Given the description of an element on the screen output the (x, y) to click on. 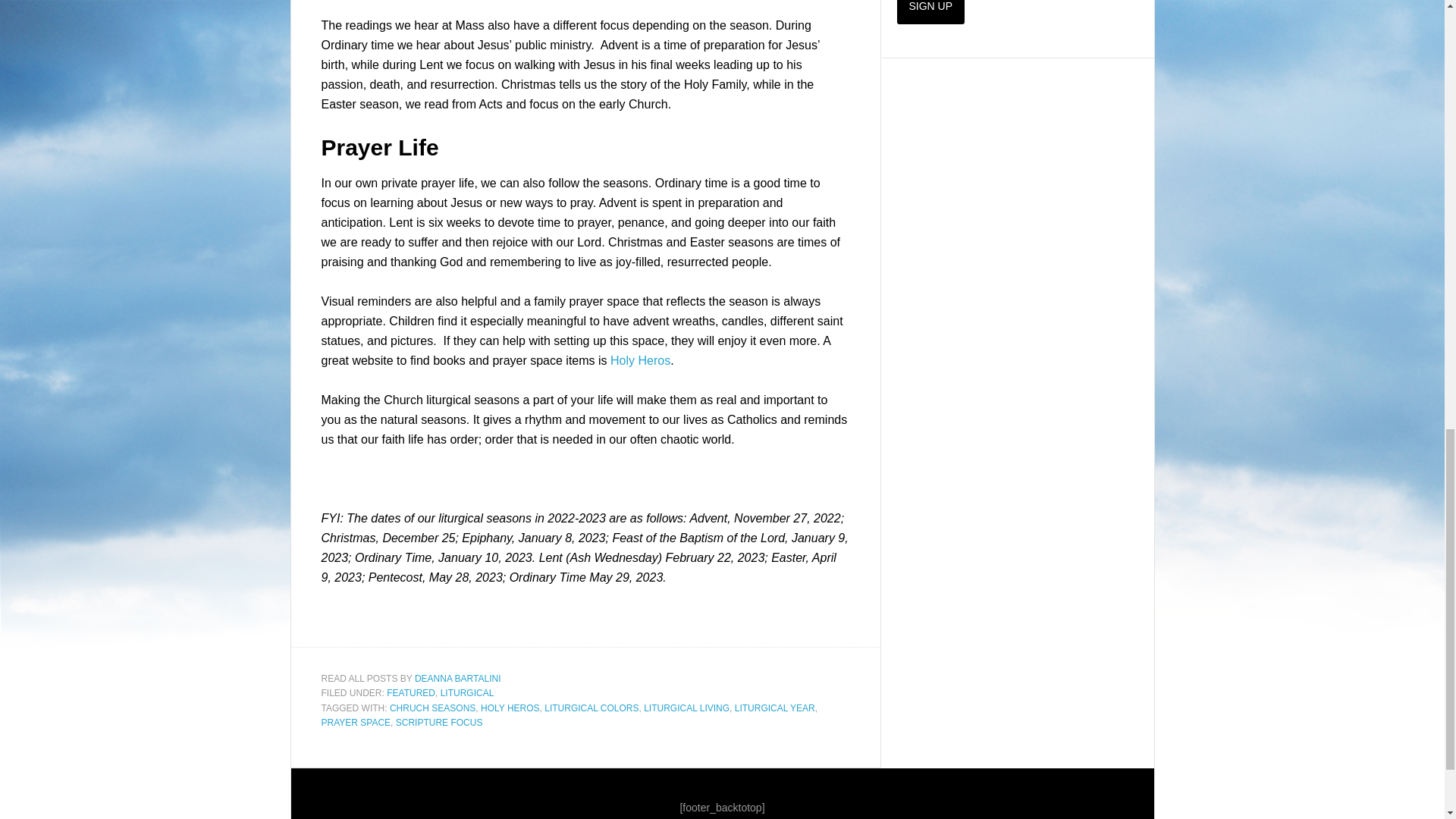
Sign up (929, 12)
